Given the description of an element on the screen output the (x, y) to click on. 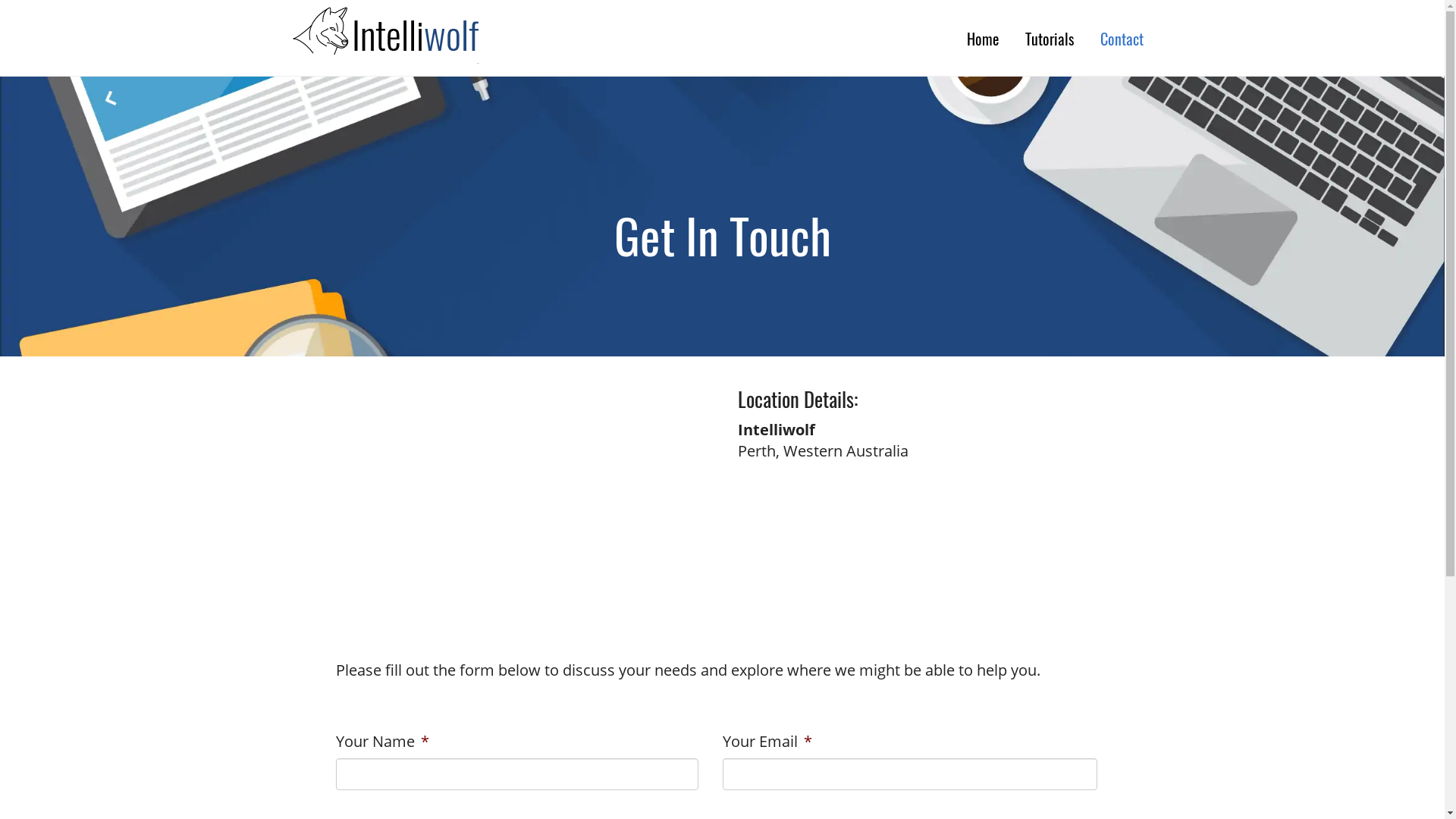
Intelliwolf Element type: text (441, 37)
Contact Element type: text (1121, 38)
Tutorials Element type: text (1048, 38)
Home Element type: text (982, 38)
